Given the description of an element on the screen output the (x, y) to click on. 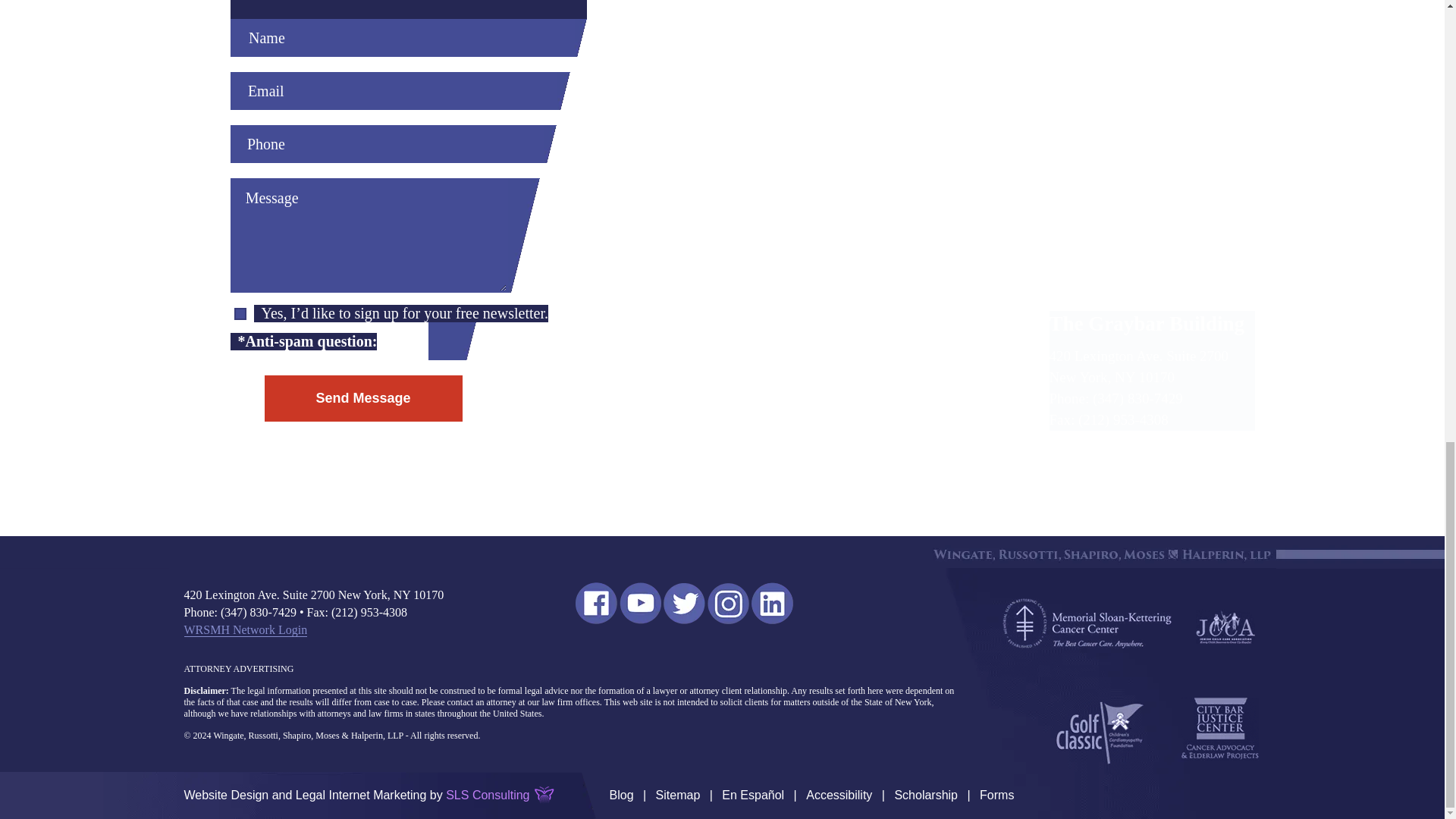
Email (393, 90)
Name (402, 37)
yes (239, 313)
Send Message (362, 398)
Phone (387, 143)
